Given the description of an element on the screen output the (x, y) to click on. 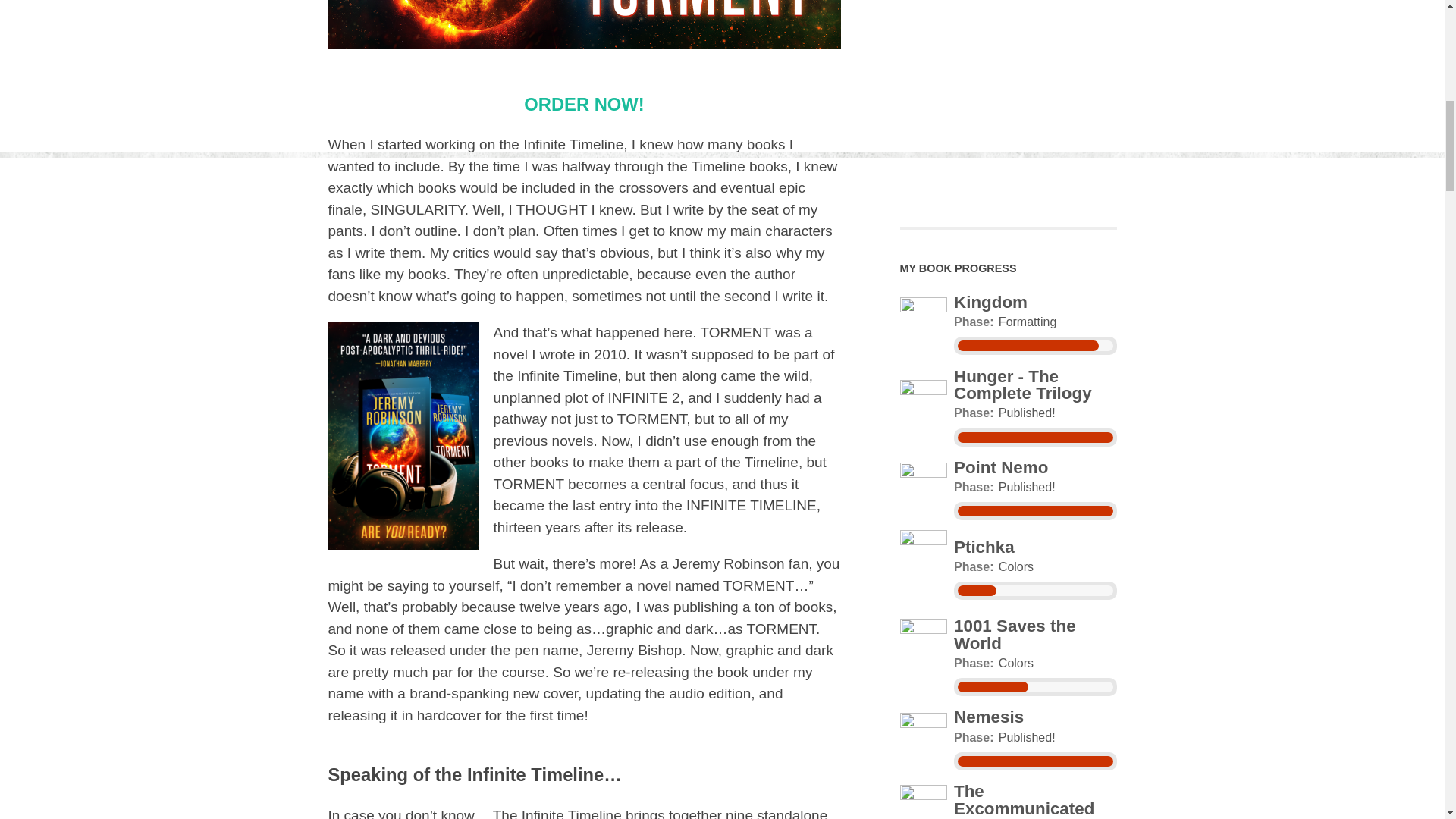
ORDER NOW! (583, 104)
My Top Videos (1007, 94)
